Given the description of an element on the screen output the (x, y) to click on. 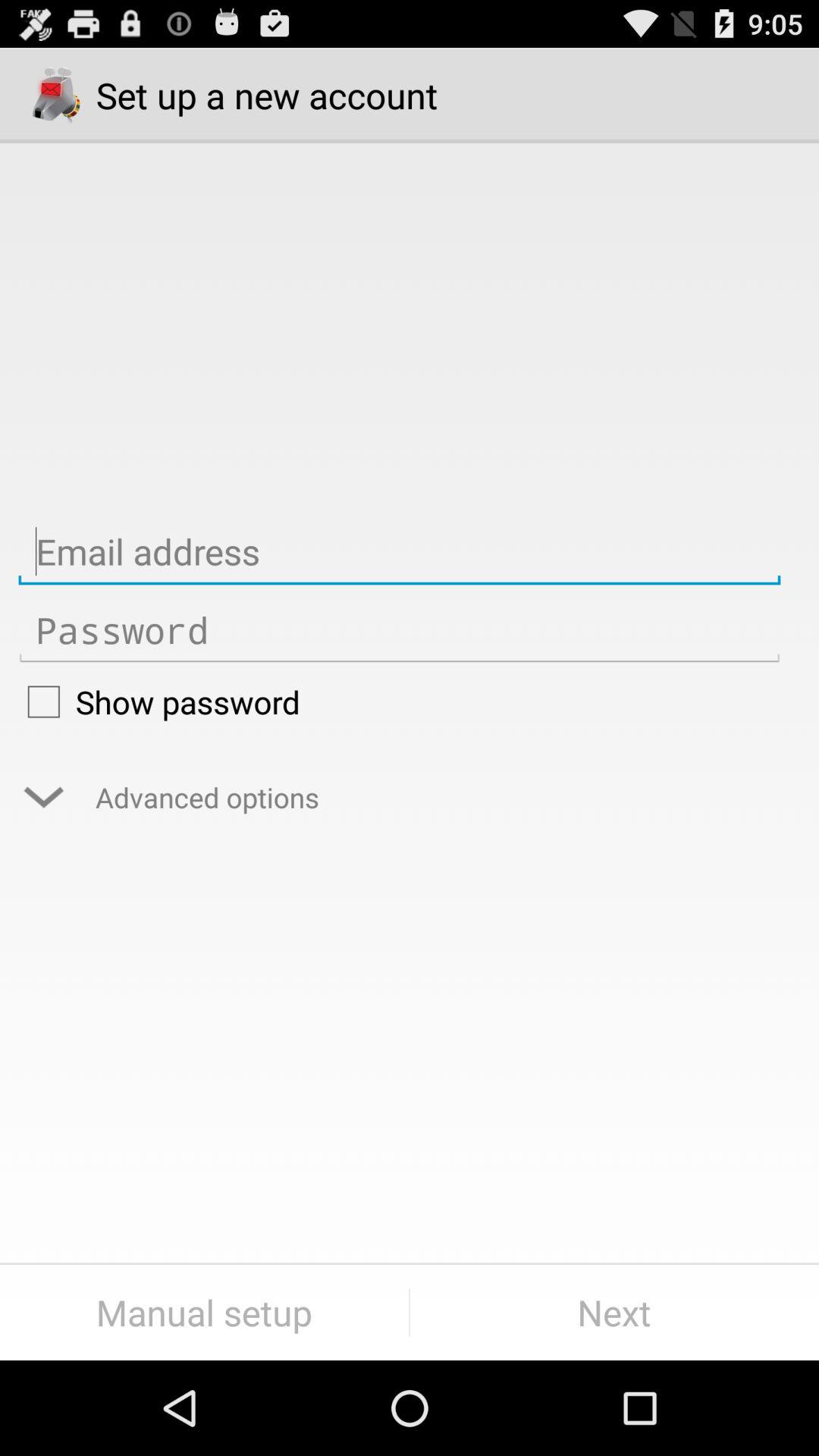
this box was enter the password (399, 630)
